Given the description of an element on the screen output the (x, y) to click on. 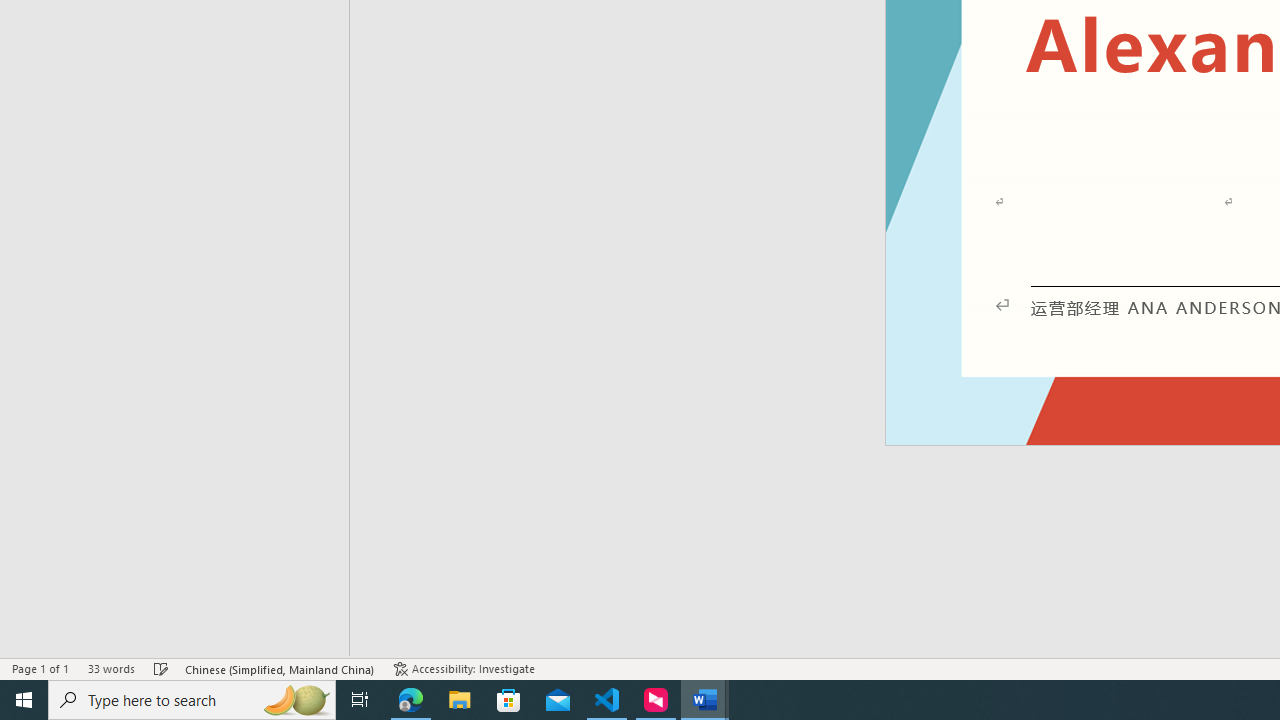
Accessibility Checker Accessibility: Investigate (464, 668)
Language Chinese (Simplified, Mainland China) (279, 668)
Page Number Page 1 of 1 (39, 668)
Spelling and Grammar Check Checking (161, 668)
